Given the description of an element on the screen output the (x, y) to click on. 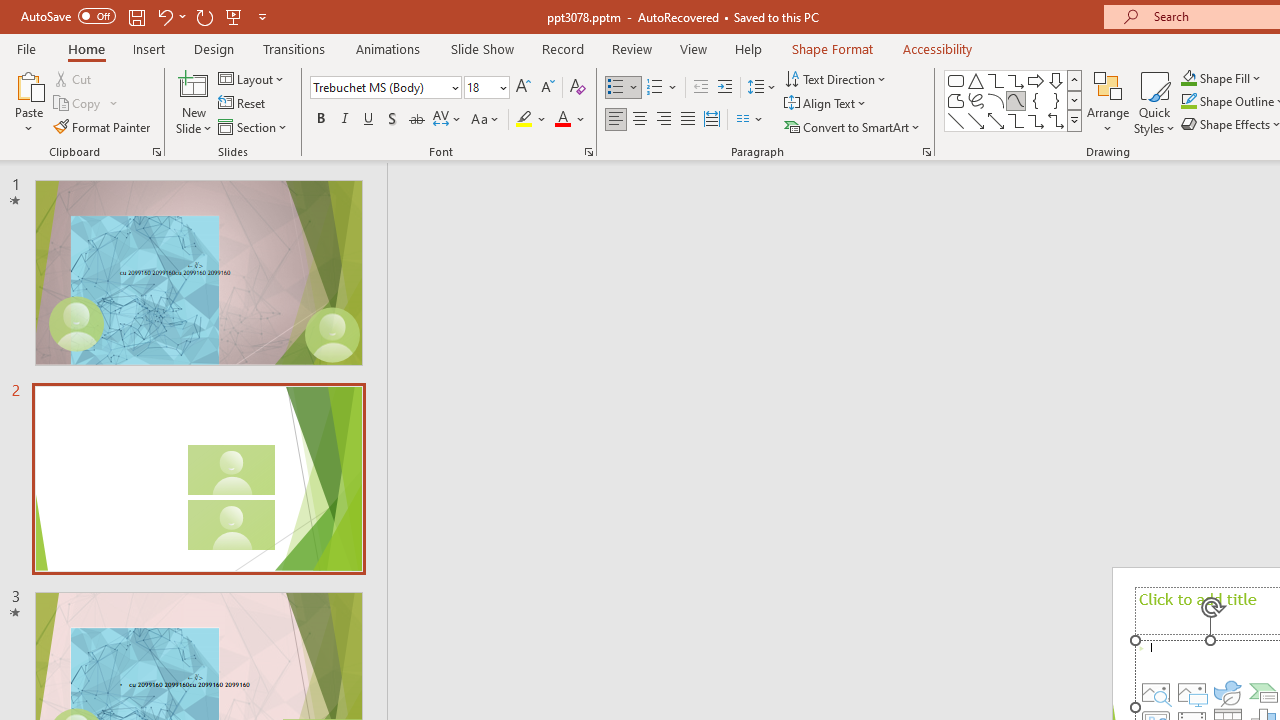
Connector: Elbow Double-Arrow (1055, 120)
